Given the description of an element on the screen output the (x, y) to click on. 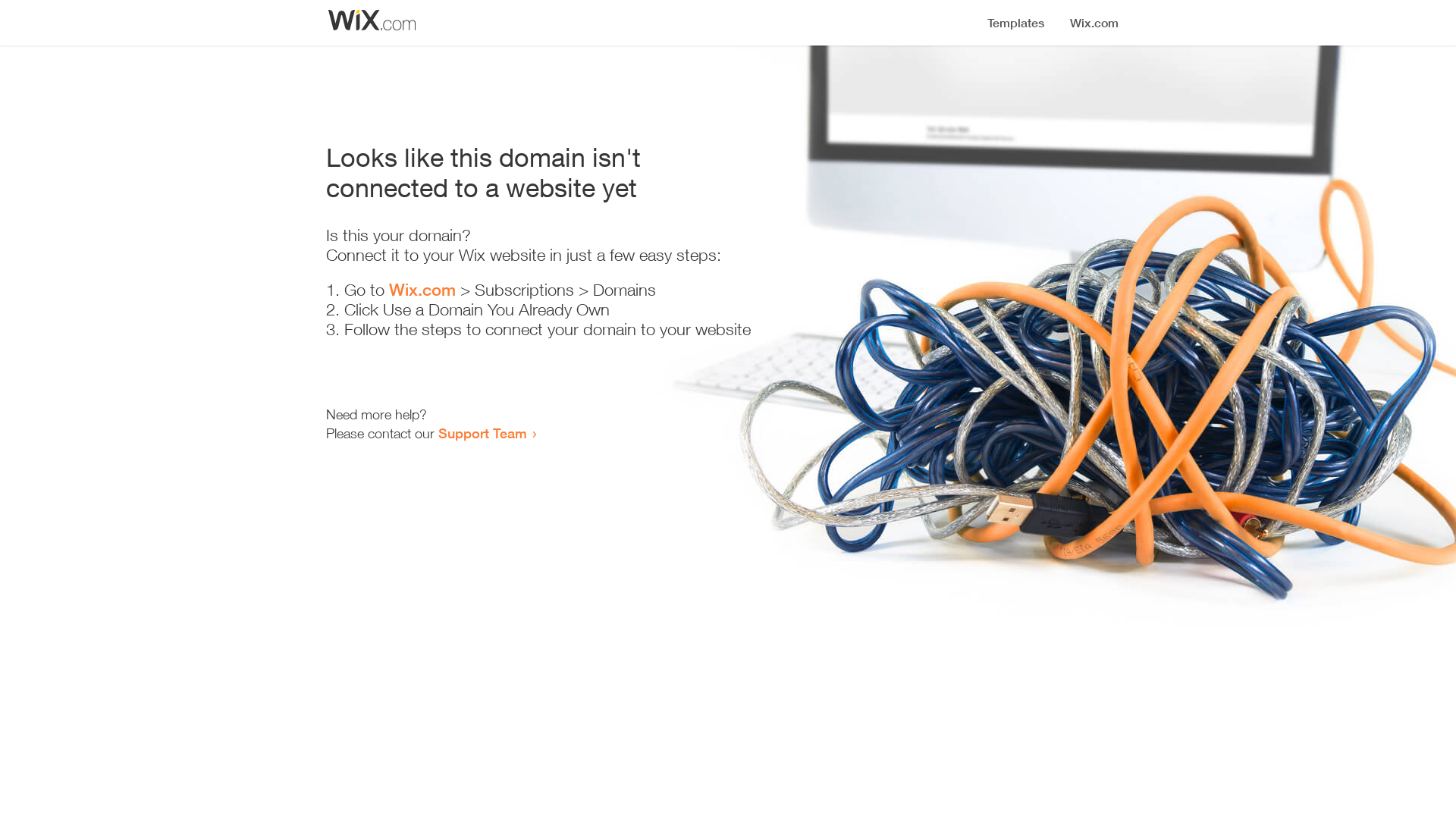
Wix.com Element type: text (422, 289)
Support Team Element type: text (482, 432)
